Given the description of an element on the screen output the (x, y) to click on. 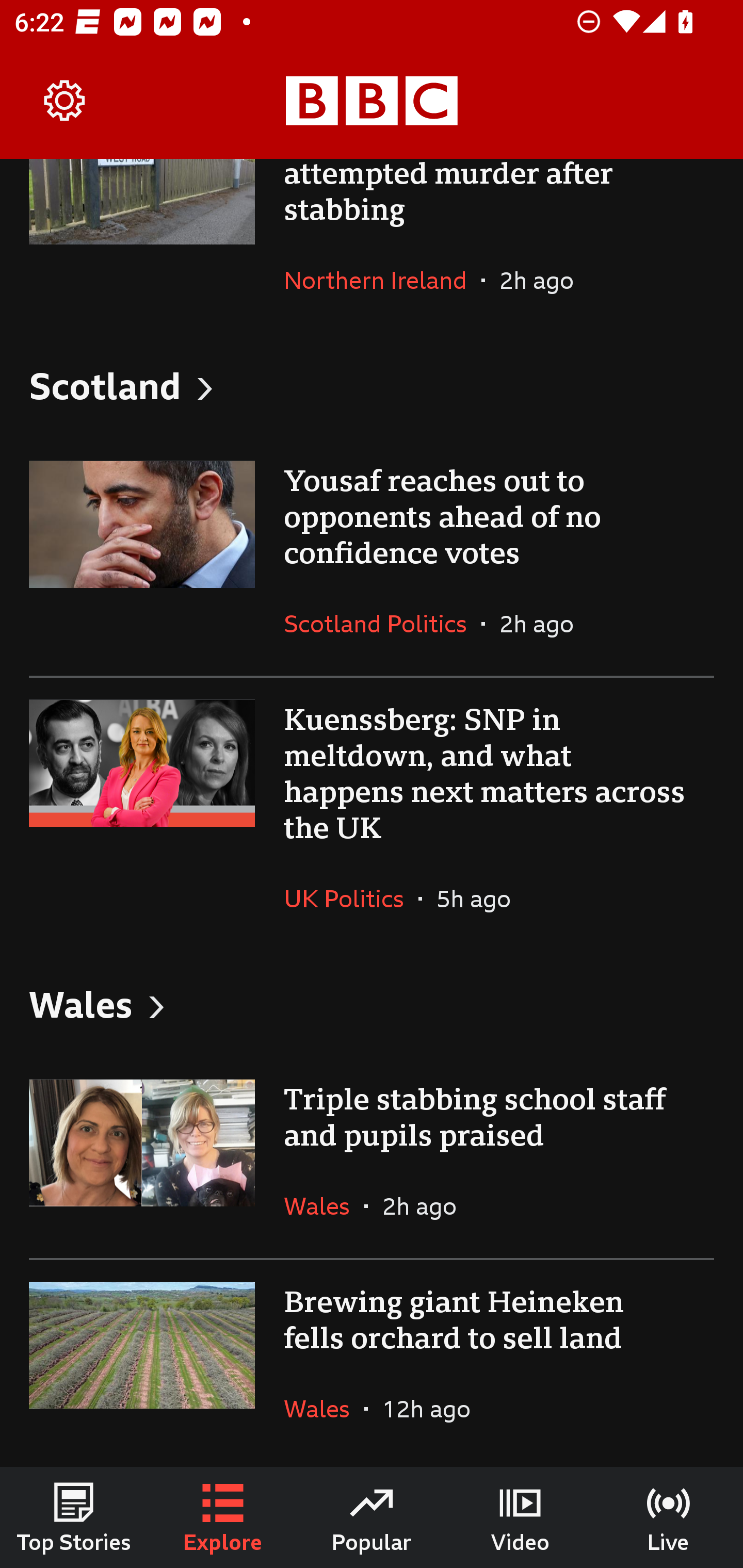
Settings (64, 100)
Northern Ireland In the section Northern Ireland (382, 279)
Scotland, Heading Scotland    (371, 385)
Scotland Politics In the section Scotland Politics (382, 622)
UK Politics In the section UK Politics (350, 898)
Wales, Heading Wales    (371, 1003)
Wales In the section Wales (323, 1205)
Wales In the section Wales (323, 1408)
Top Stories (74, 1517)
Popular (371, 1517)
Video (519, 1517)
Live (668, 1517)
